Given the description of an element on the screen output the (x, y) to click on. 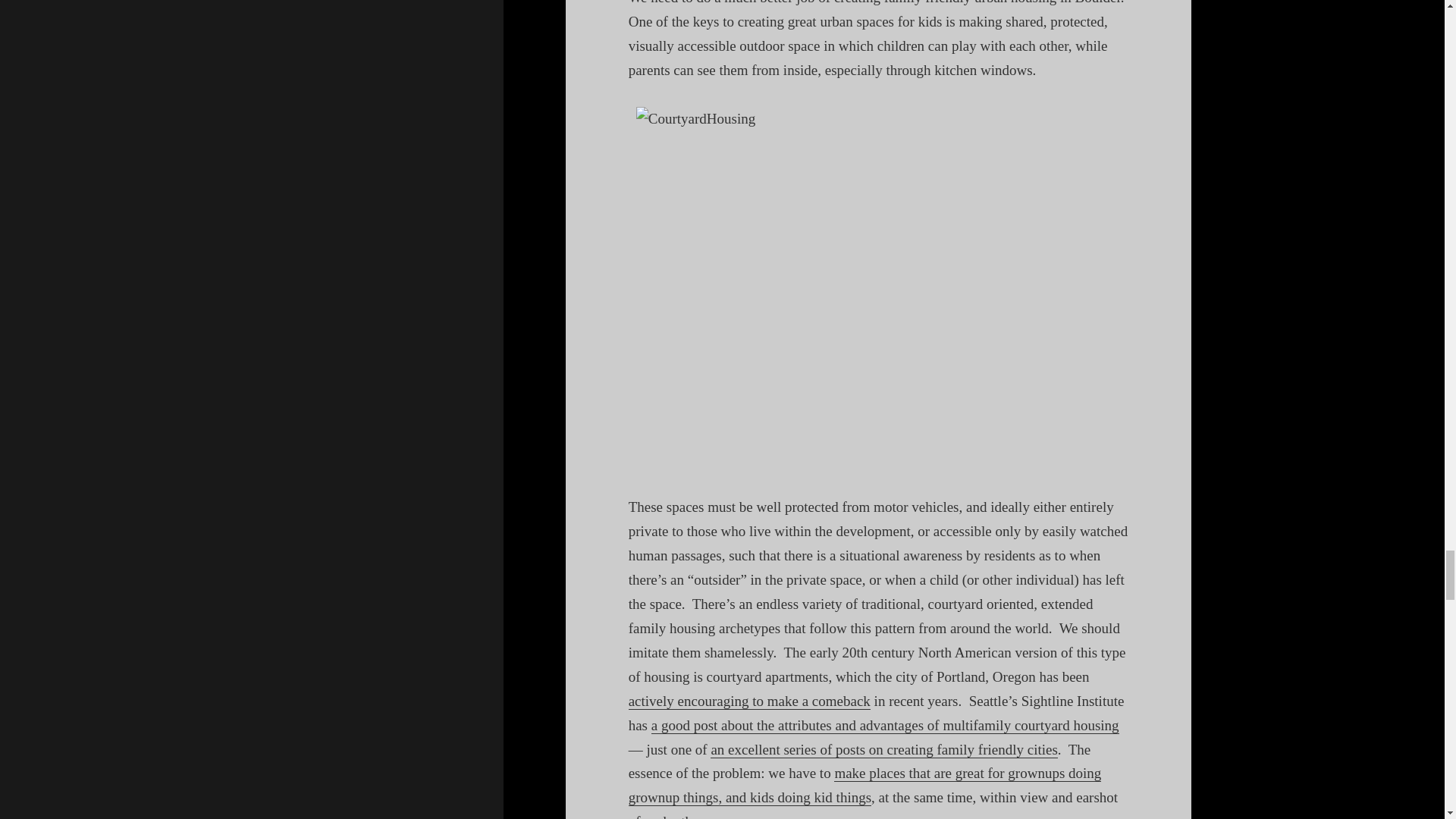
actively encouraging to make a comeback (749, 701)
